Given the description of an element on the screen output the (x, y) to click on. 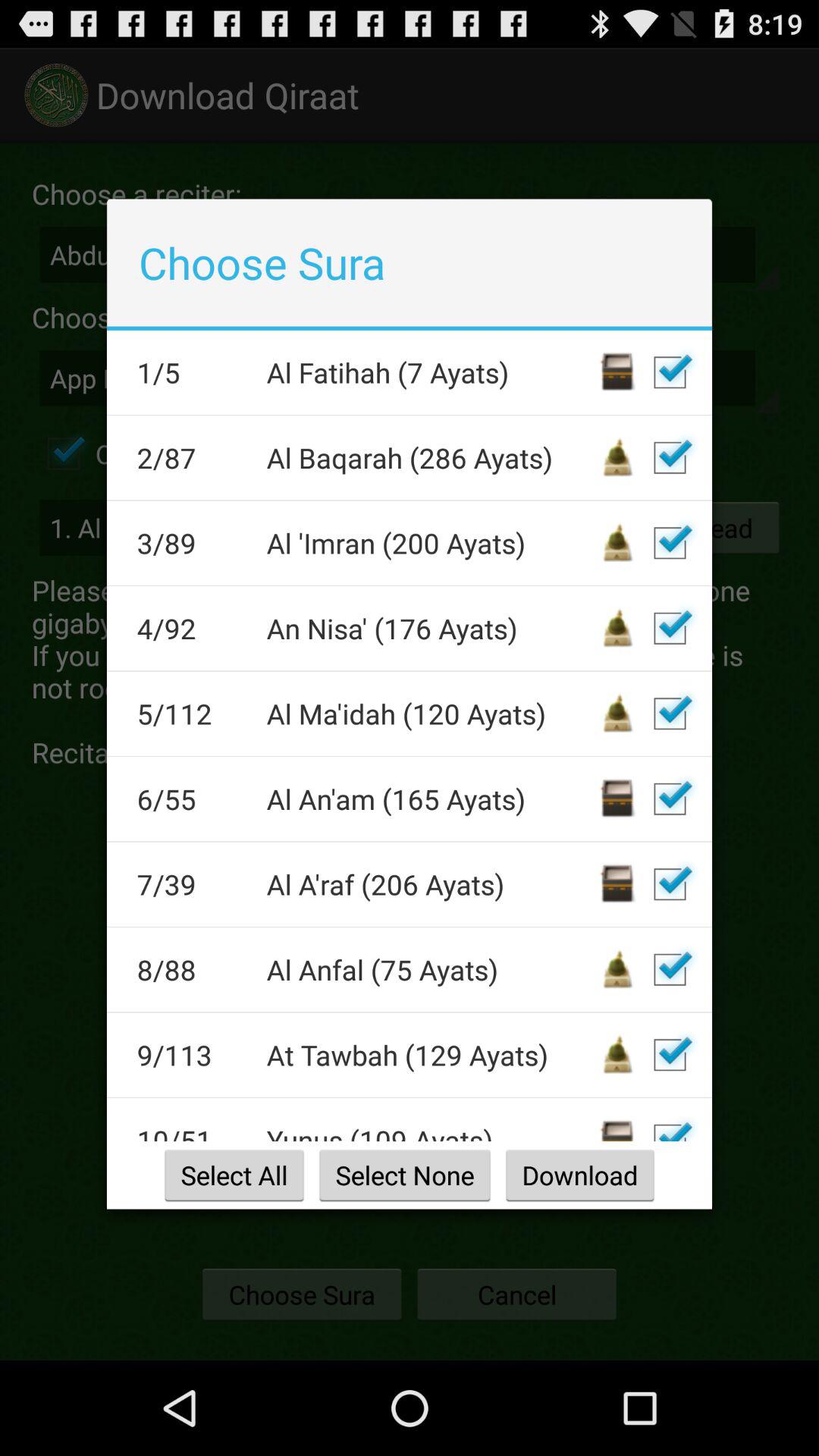
un-check box (669, 884)
